Given the description of an element on the screen output the (x, y) to click on. 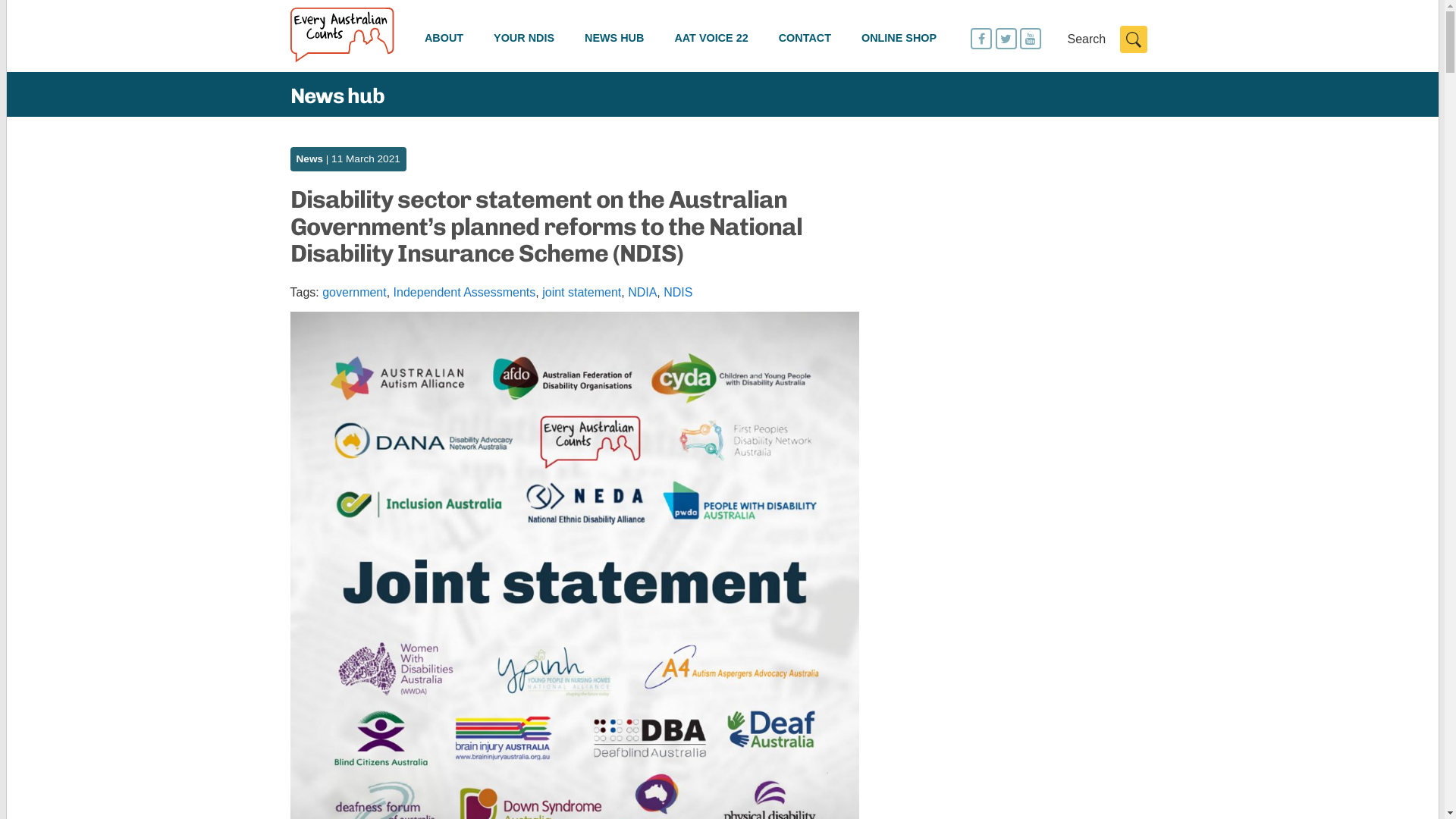
NEWS HUB Element type: text (613, 38)
CONTACT Element type: text (804, 38)
government Element type: text (354, 291)
Independent Assessments Element type: text (464, 291)
YOUR NDIS Element type: text (523, 38)
NDIA Element type: text (641, 291)
AAT VOICE 22 Element type: text (710, 38)
Search Element type: text (1132, 39)
News Element type: text (309, 158)
joint statement Element type: text (581, 291)
ONLINE SHOP Element type: text (898, 38)
News hub Element type: text (336, 95)
ABOUT Element type: text (443, 38)
NDIS Element type: text (677, 291)
